Given the description of an element on the screen output the (x, y) to click on. 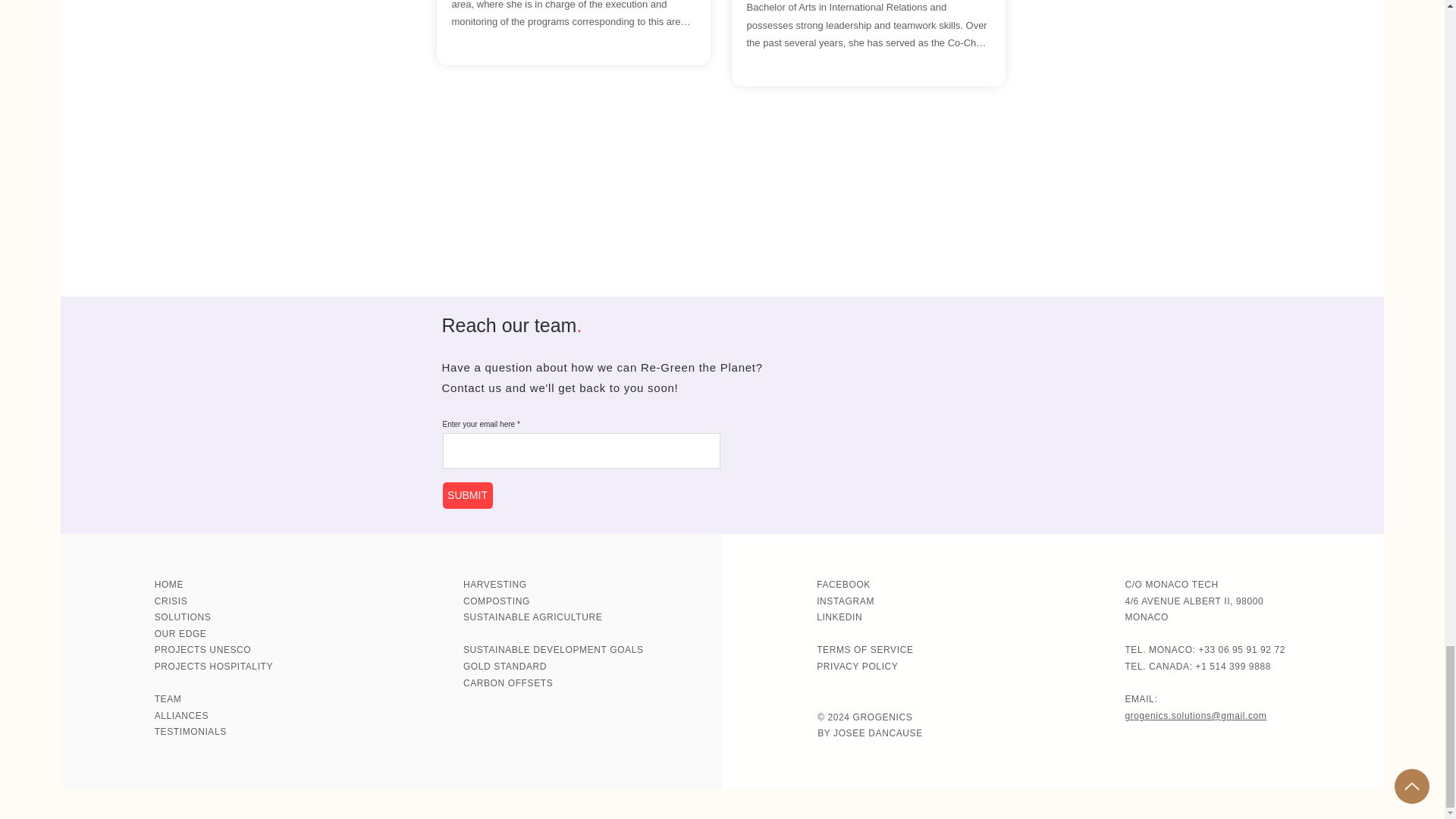
PRIVACY POLICY (857, 665)
SUSTAINABLE DEVELOPMENT GOALS (553, 649)
CARBON OFFSETS (508, 683)
FACEBOOK (843, 584)
PROJECTS UNESCO (202, 649)
TERMS OF SERVICE (864, 649)
ALLIANCES (181, 715)
SUSTAINABLE AGRICULTURE (532, 616)
TEAM (168, 698)
HOME (168, 584)
